Given the description of an element on the screen output the (x, y) to click on. 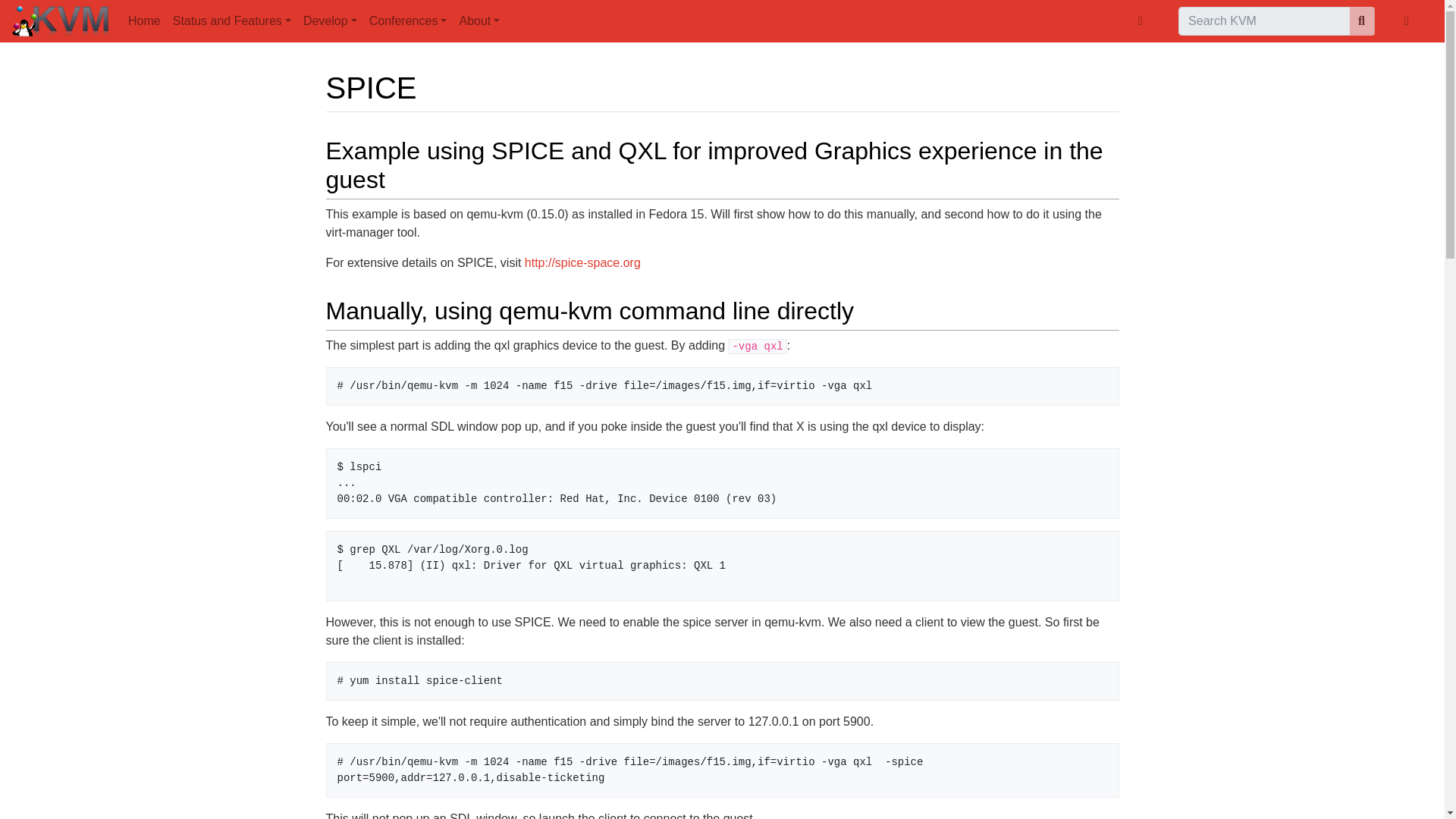
Conferences (407, 20)
Go to a page with this exact name if it exists (1361, 21)
Go (1361, 21)
Status and Features (232, 20)
Visit the main page (60, 22)
Home (144, 20)
Develop (329, 20)
About (478, 20)
